Given the description of an element on the screen output the (x, y) to click on. 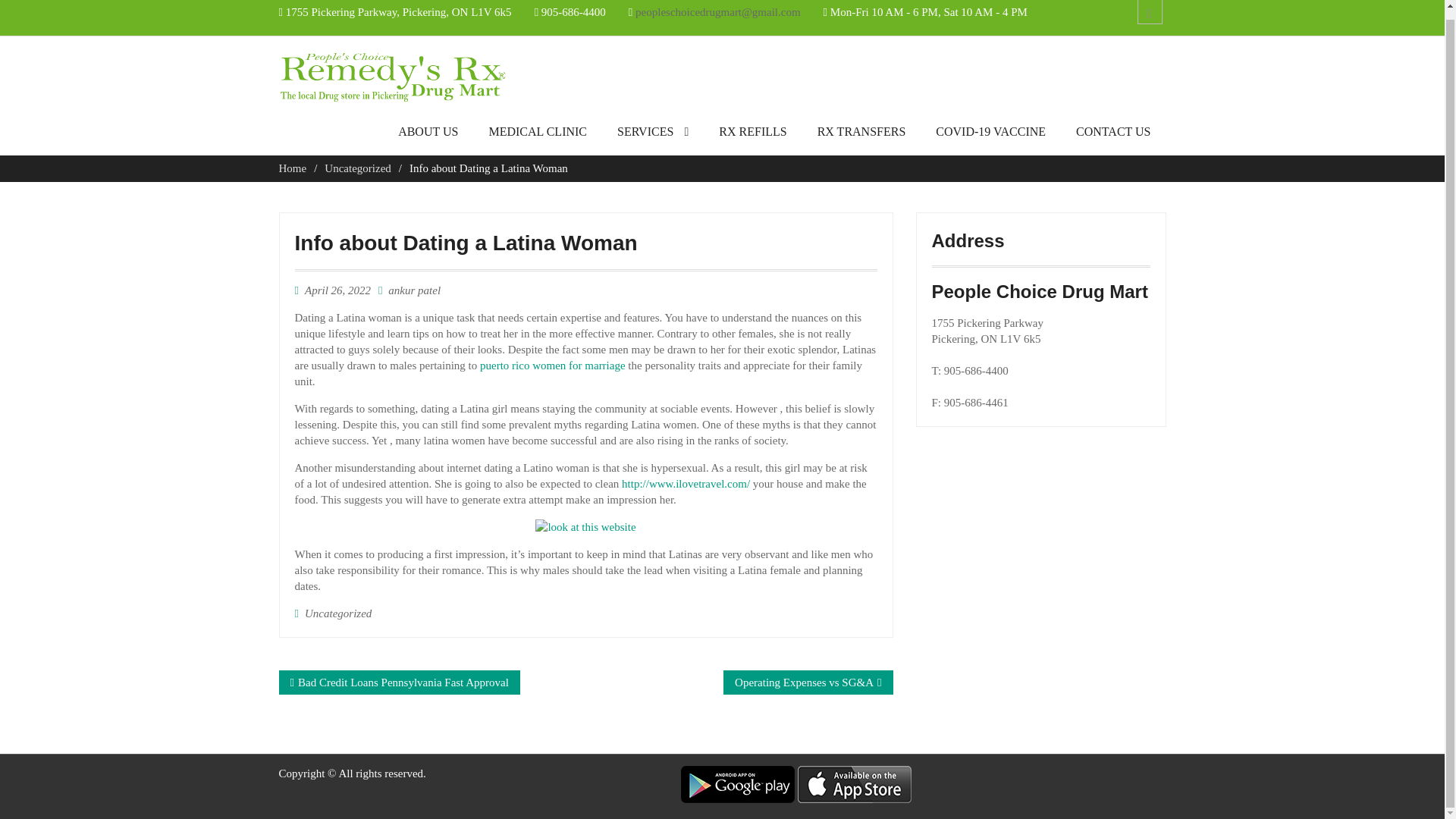
ABOUT US (427, 135)
Uncategorized (337, 613)
Uncategorized (357, 168)
Home (293, 168)
COVID-19 VACCINE (990, 135)
CONTACT US (1112, 135)
ankur patel (414, 290)
April 26, 2022 (337, 290)
SERVICES (652, 135)
FB (1149, 12)
